Given the description of an element on the screen output the (x, y) to click on. 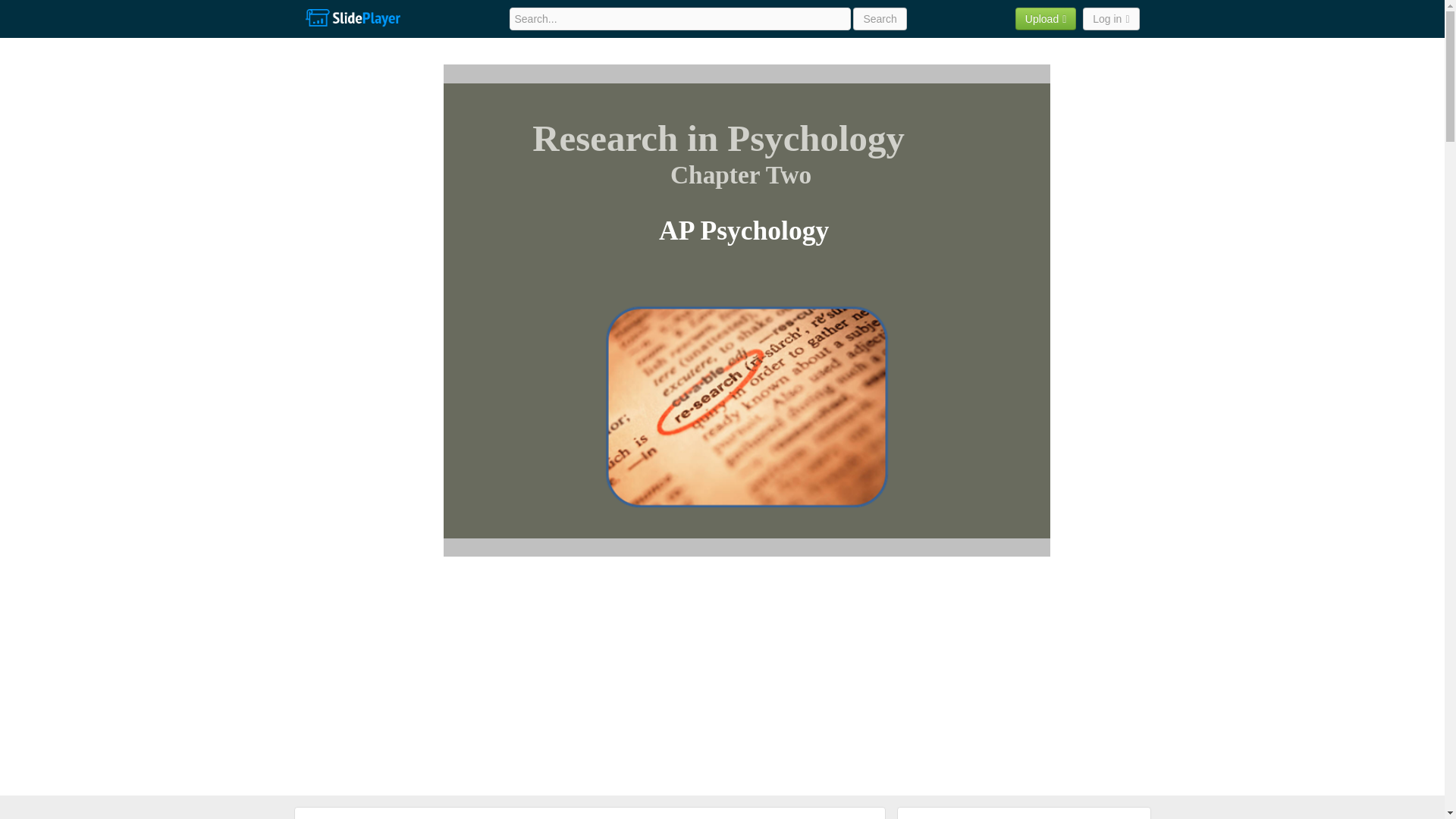
Advertisement (1115, 291)
Log in (1110, 18)
SlidePlayer (352, 18)
Upload (1045, 18)
Advertisement (364, 291)
Search (879, 18)
